Given the description of an element on the screen output the (x, y) to click on. 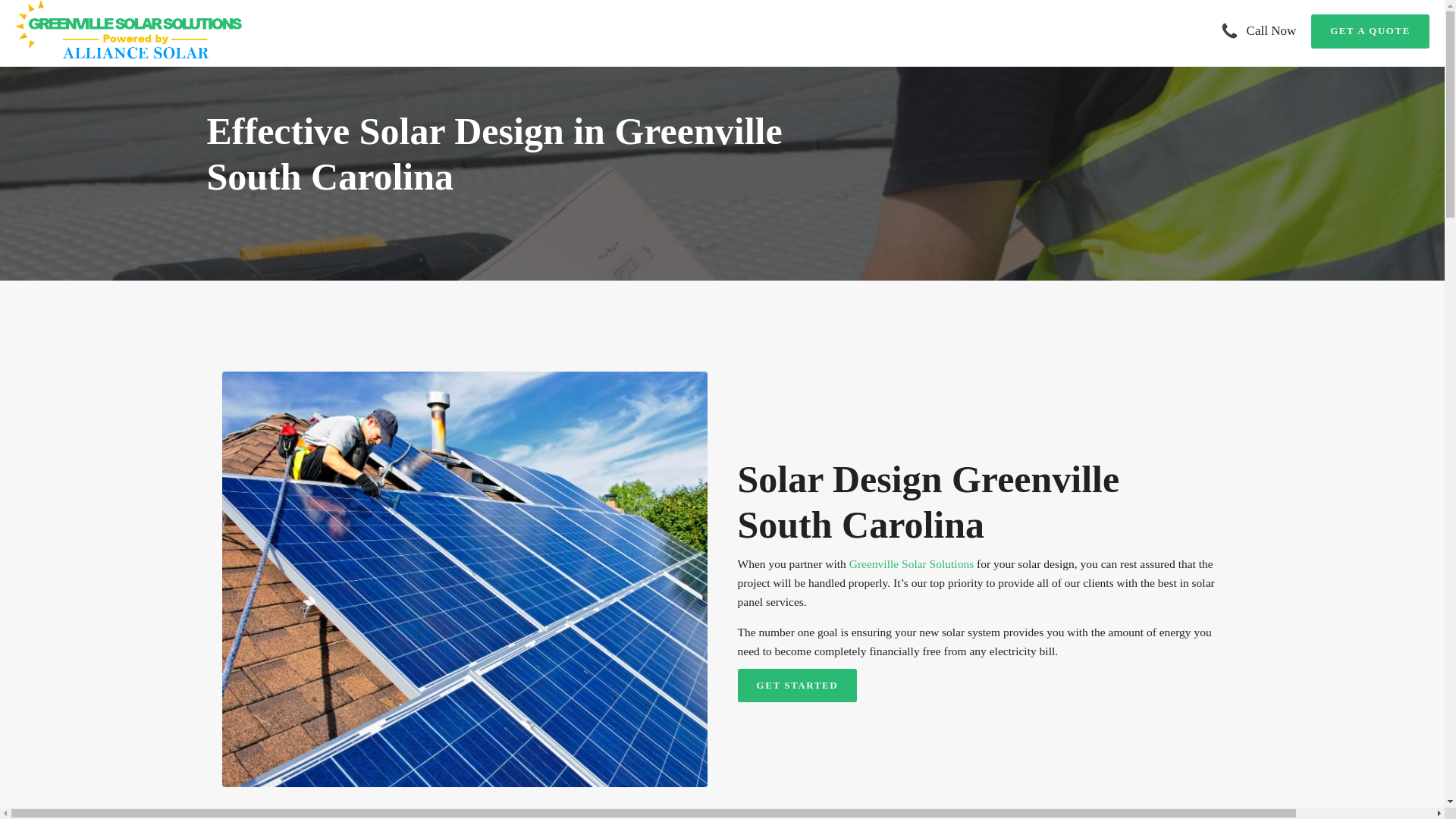
Greenville Solar Solutions (911, 563)
GET A QUOTE (1370, 31)
Call Now (1271, 30)
GET STARTED (796, 685)
